Given the description of an element on the screen output the (x, y) to click on. 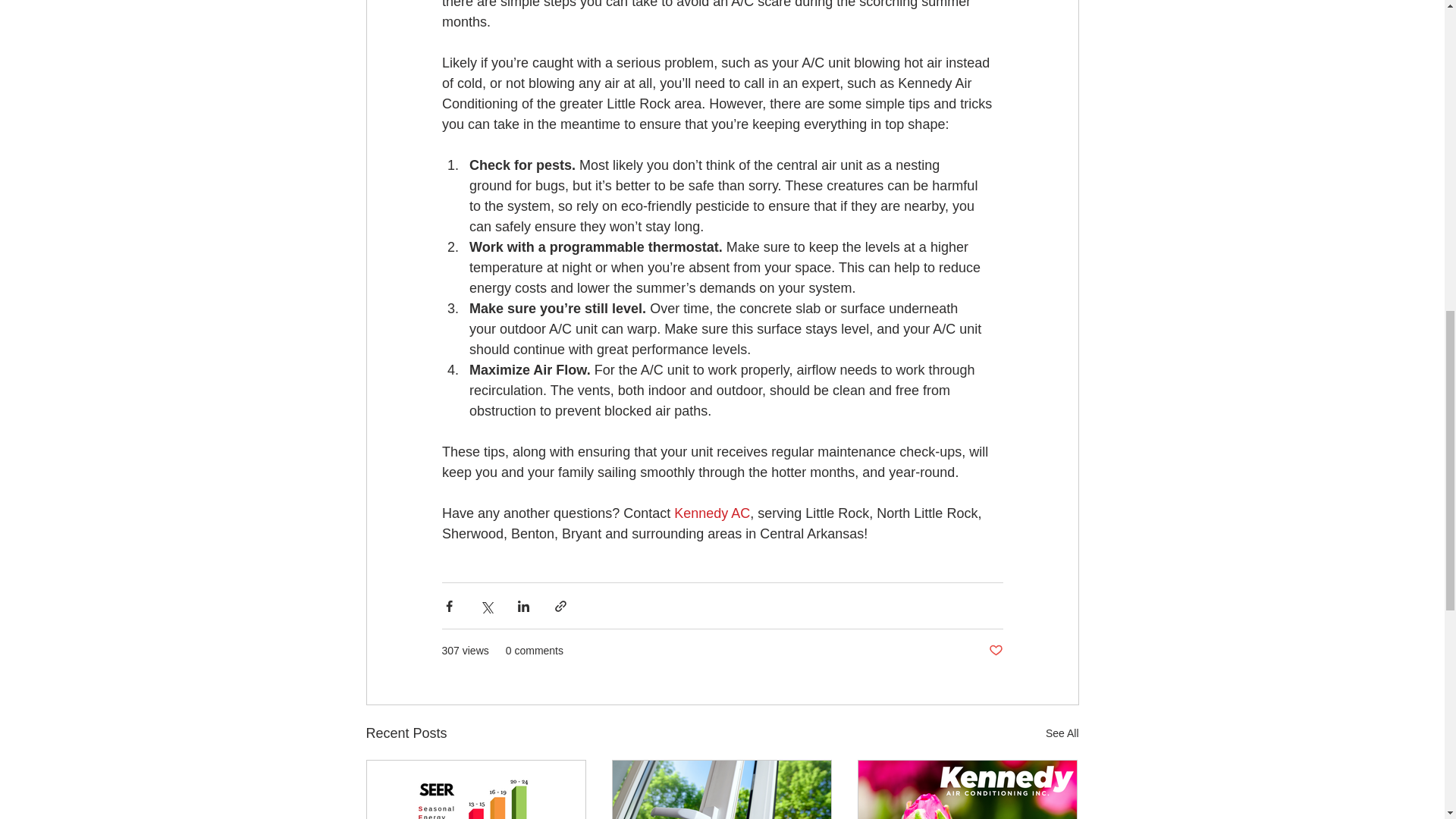
See All (1061, 733)
Kennedy AC (711, 513)
Post not marked as liked (995, 650)
